Given the description of an element on the screen output the (x, y) to click on. 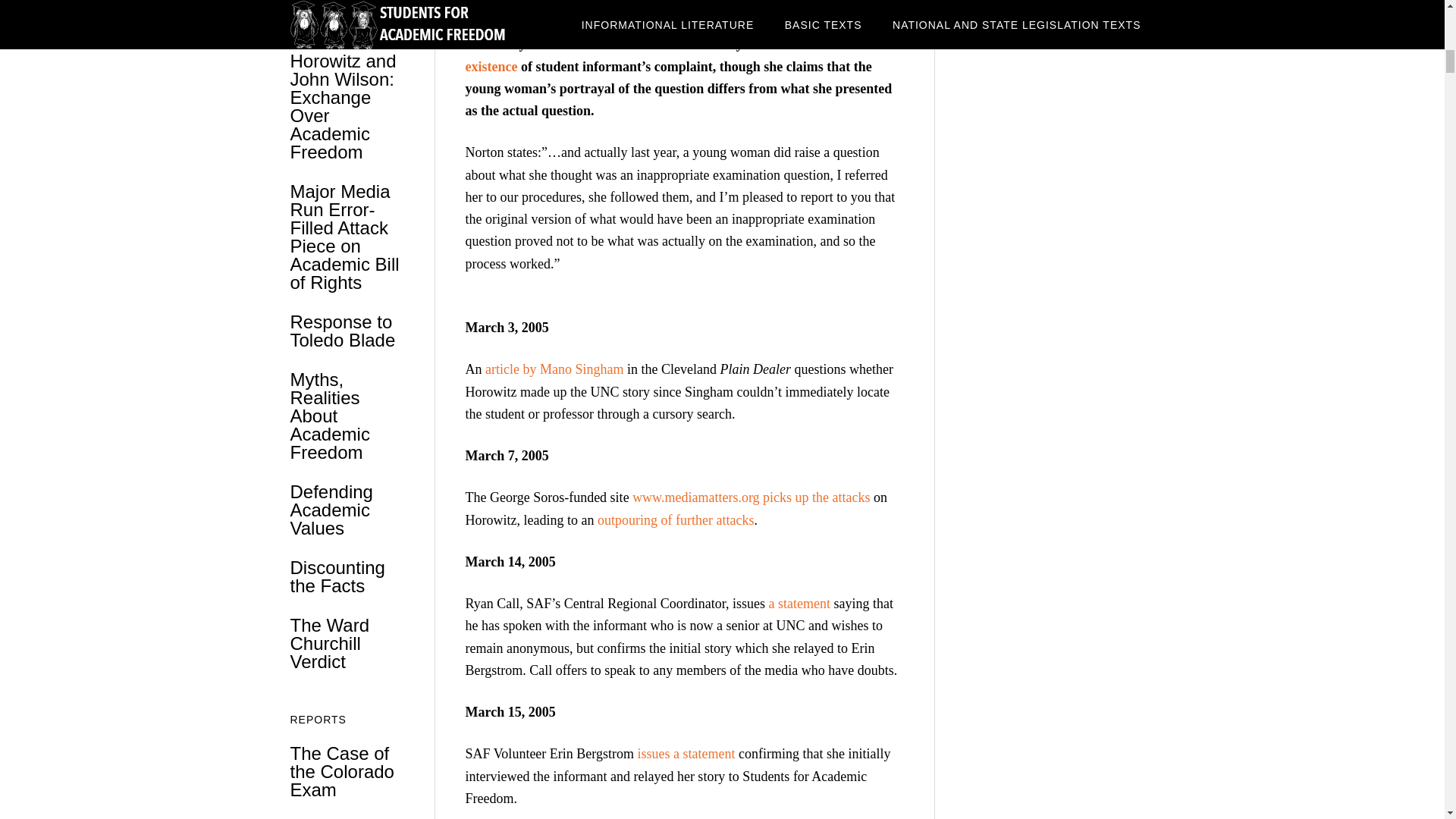
picks up the attacks (815, 497)
confirms existence (654, 54)
article by Mano Singham (553, 368)
www.mediamatters.org (694, 497)
outpouring of further attacks (675, 519)
issues a statement (686, 753)
a statement (798, 603)
